Given the description of an element on the screen output the (x, y) to click on. 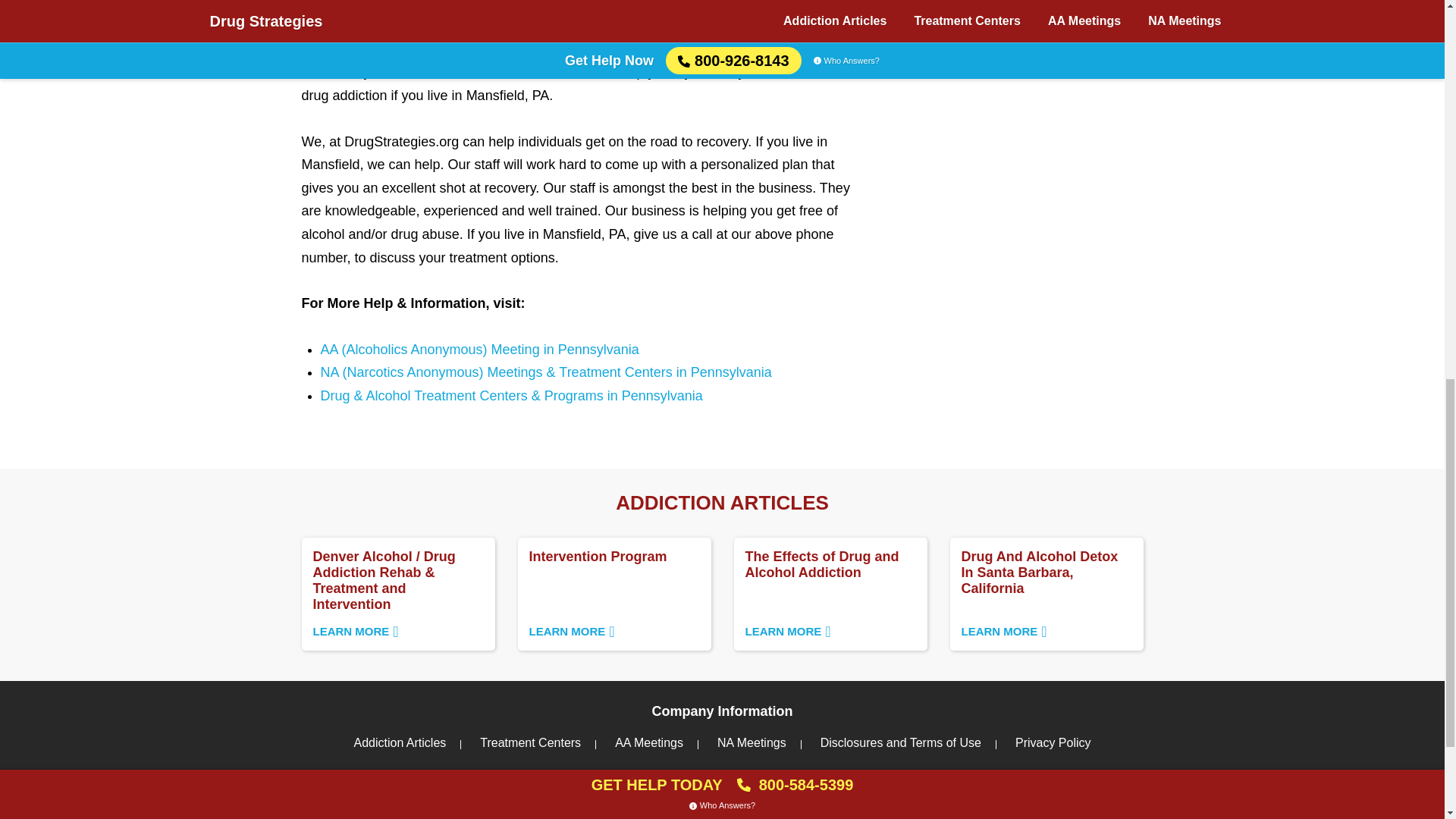
Addiction Articles (399, 742)
AA Meetings (648, 742)
Privacy Policy (1053, 742)
NA Meetings (751, 742)
Disclosures and Terms of Use (900, 742)
DrugStrategies.org (613, 593)
Treatment Centers (830, 593)
